Given the description of an element on the screen output the (x, y) to click on. 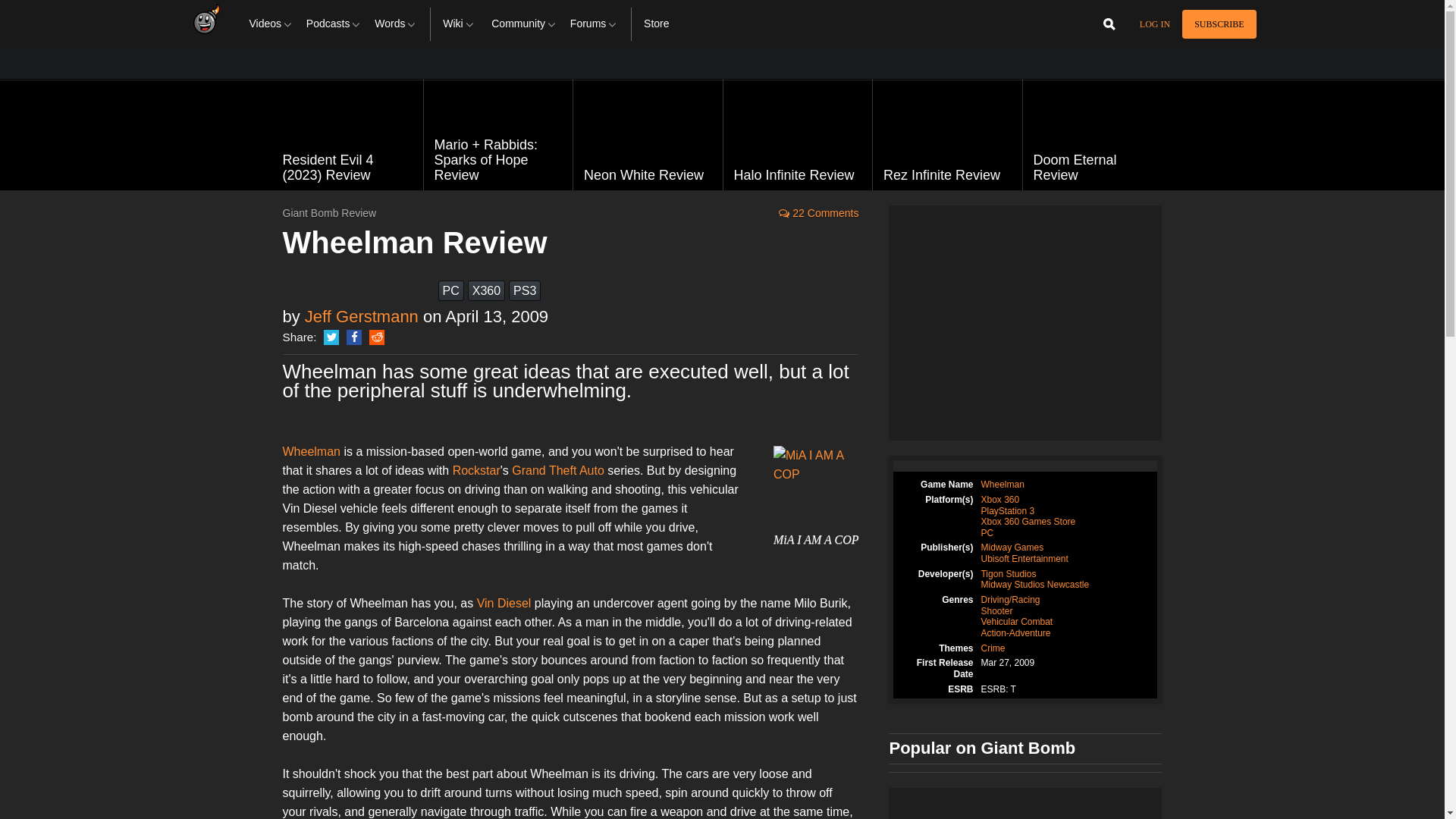
Words (395, 24)
Podcasts (333, 24)
Videos (271, 24)
